Given the description of an element on the screen output the (x, y) to click on. 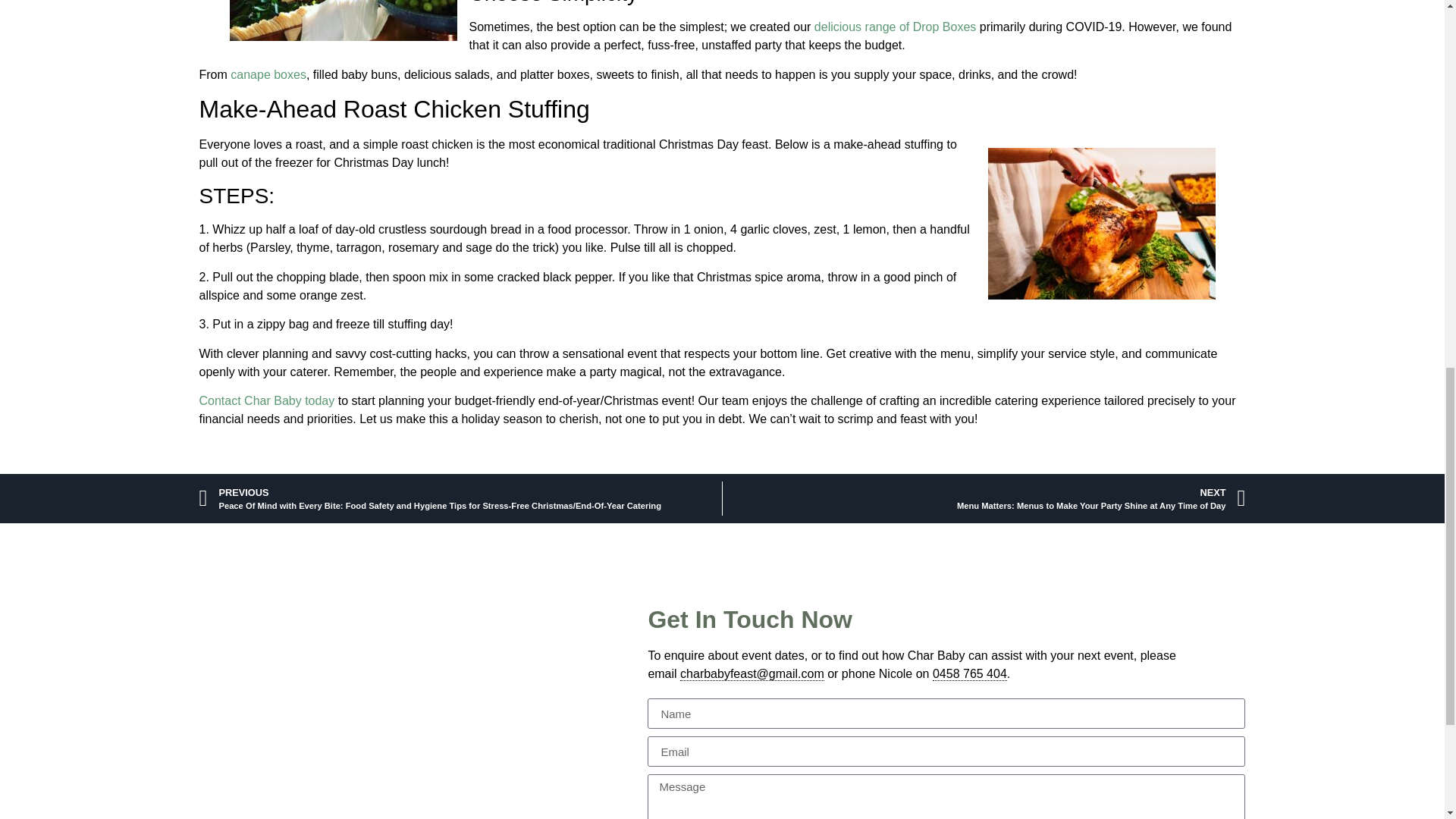
delicious range of Drop Boxes (894, 26)
0458 765 404 (970, 673)
Contact Char Baby today (266, 400)
canape boxes (267, 74)
